Given the description of an element on the screen output the (x, y) to click on. 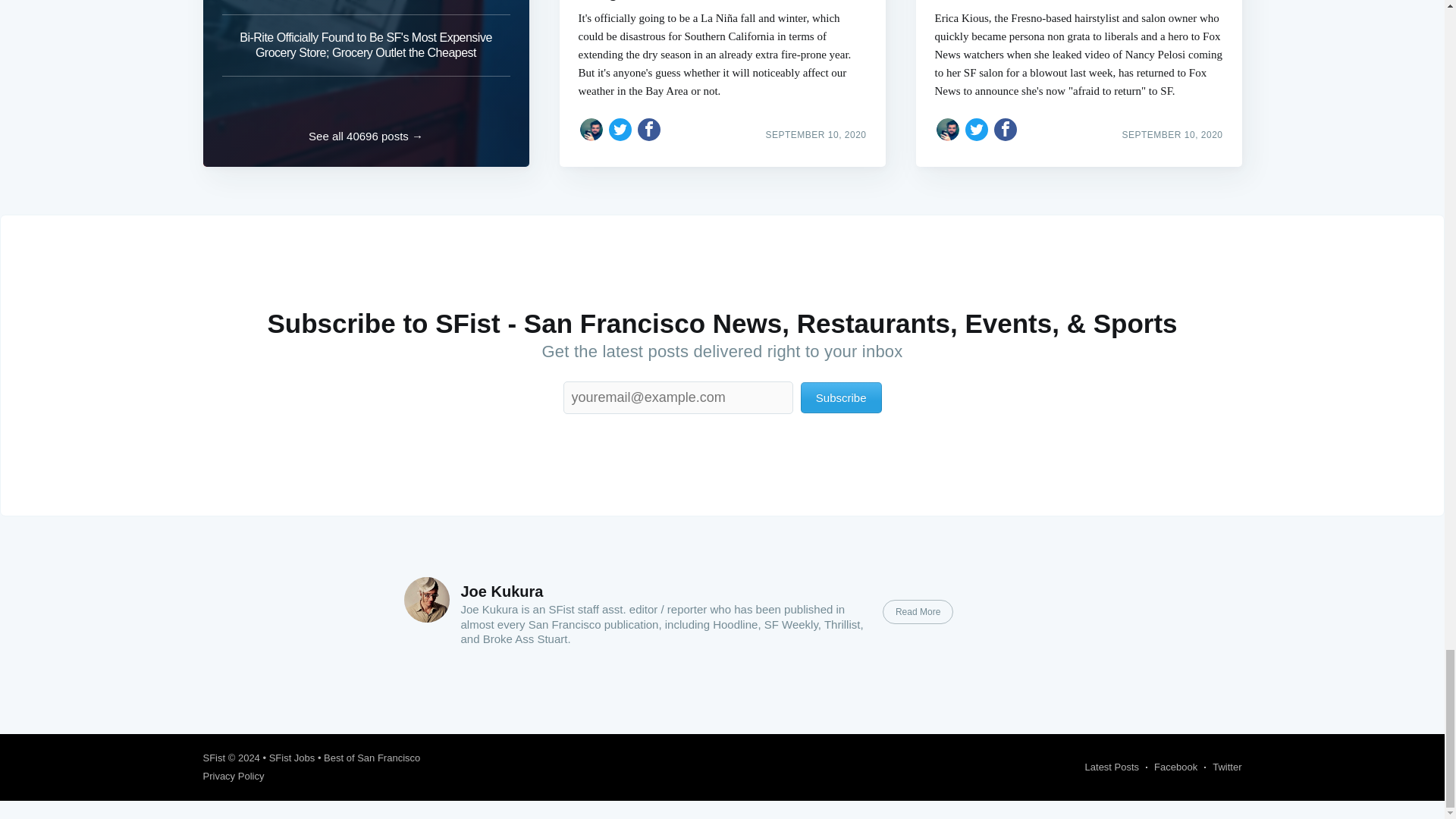
Share on Twitter (976, 129)
Share on Facebook (649, 129)
Share on Twitter (620, 129)
Share on Facebook (1004, 129)
